Given the description of an element on the screen output the (x, y) to click on. 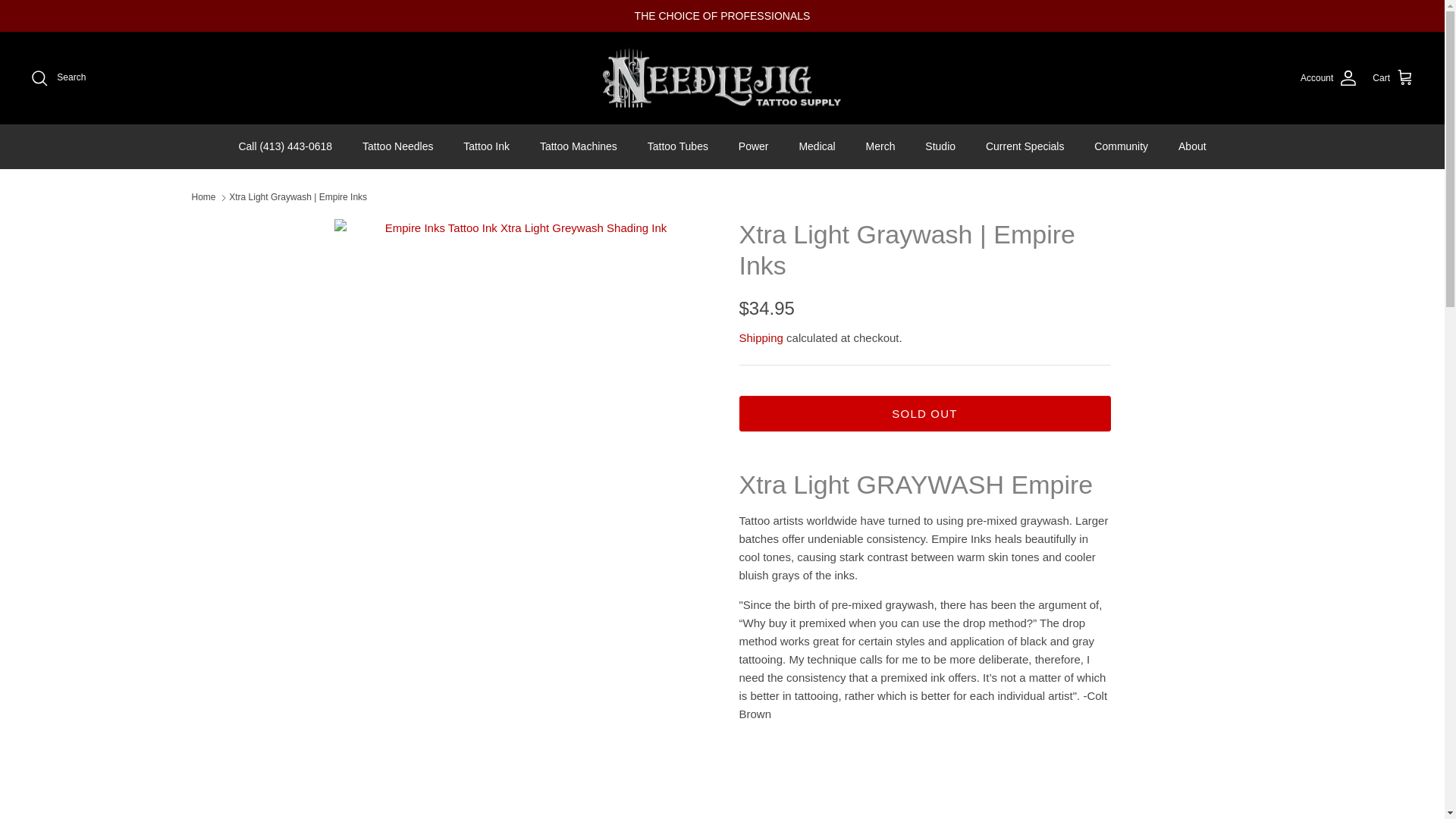
Tattoo Needles (397, 146)
Cart (1393, 77)
Account (1328, 77)
Needlejig Tattoo Supply (721, 77)
Search (57, 77)
